Given the description of an element on the screen output the (x, y) to click on. 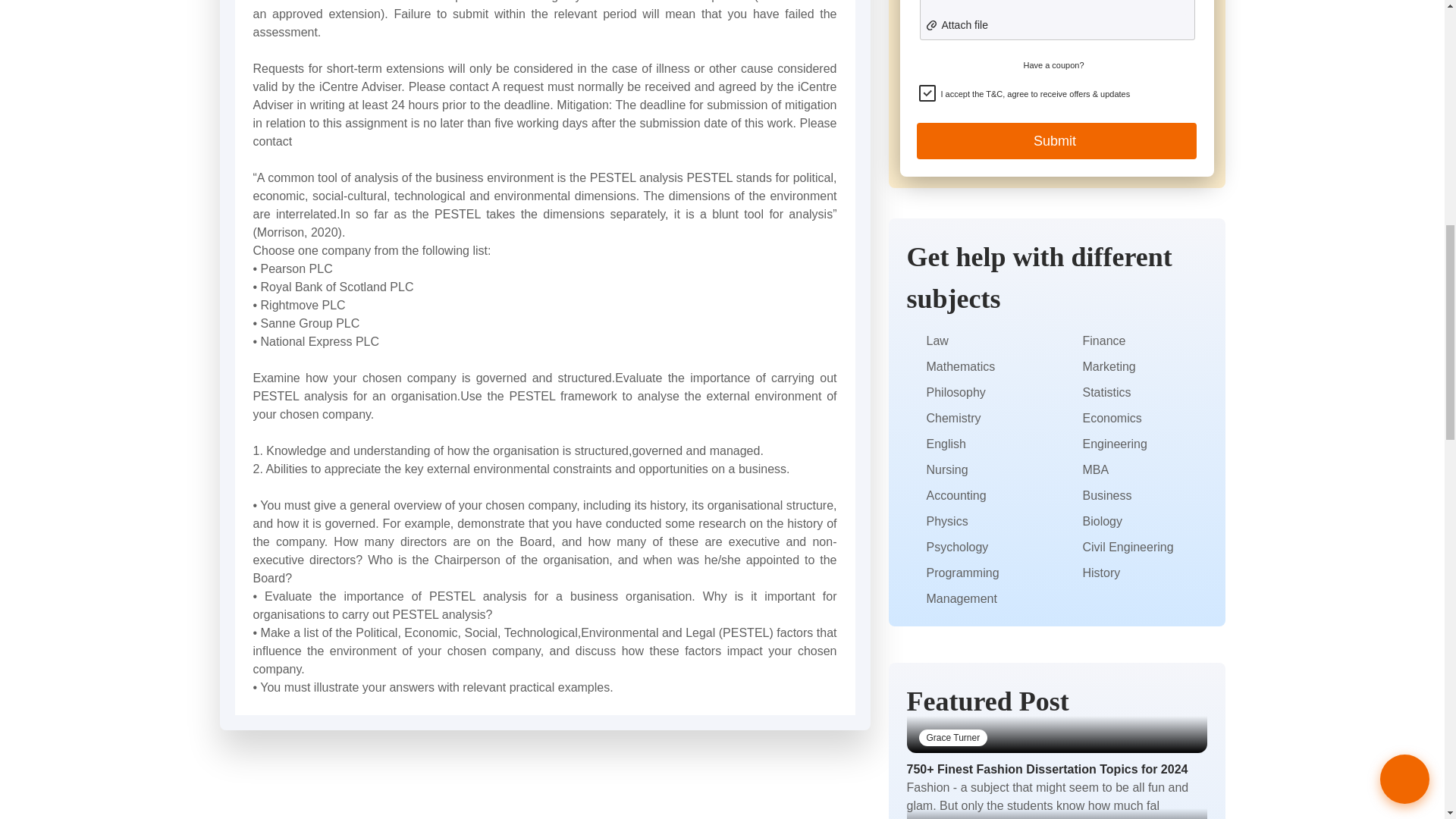
diffrent-subjects (912, 470)
diffrent-subjects (912, 367)
diffrent-subjects (912, 419)
diffrent-subjects (912, 341)
diffrent-subjects (912, 393)
diffrent-subjects (912, 444)
